Given the description of an element on the screen output the (x, y) to click on. 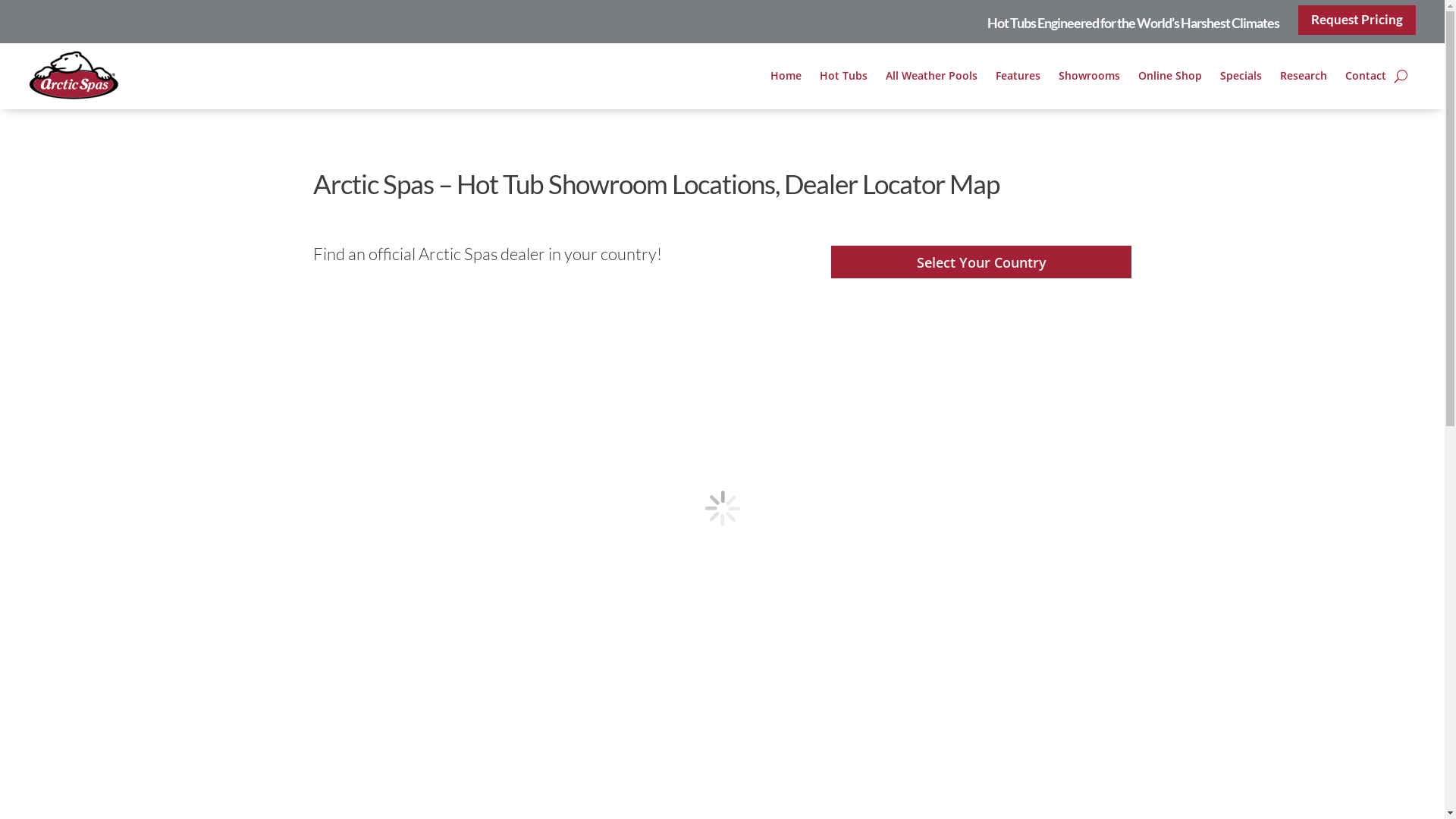
Contact Element type: text (1364, 78)
Showrooms Element type: text (1088, 78)
Features Element type: text (1017, 78)
All Weather Pools Element type: text (930, 78)
Request Pricing Element type: text (1356, 19)
arcticspas-Logo-Red-300-3-1-1 Element type: hover (73, 75)
Specials Element type: text (1239, 78)
Select Your Country Element type: text (981, 261)
Home Element type: text (784, 78)
Research Element type: text (1302, 78)
Online Shop Element type: text (1168, 78)
Hot Tubs Element type: text (842, 78)
